Given the description of an element on the screen output the (x, y) to click on. 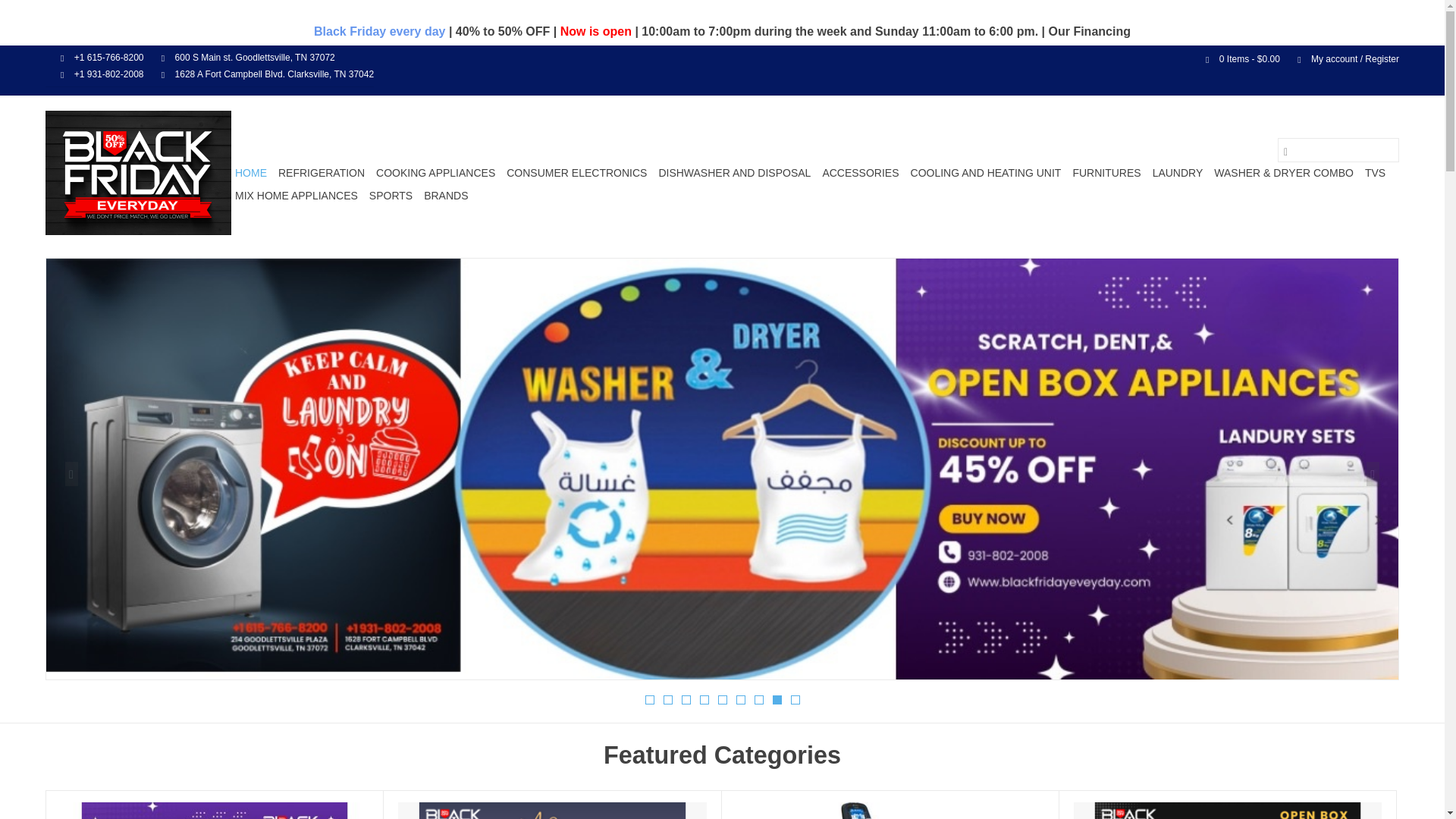
COOKING APPLIANCES (435, 172)
REFRIGERATION (321, 172)
Cart (1236, 59)
Our Financing (1088, 31)
CONSUMER ELECTRONICS (576, 172)
Black Friday (138, 172)
HOME (250, 172)
REFRIGERATION (321, 172)
My account (1340, 59)
COOKING APPLIANCES (435, 172)
